Given the description of an element on the screen output the (x, y) to click on. 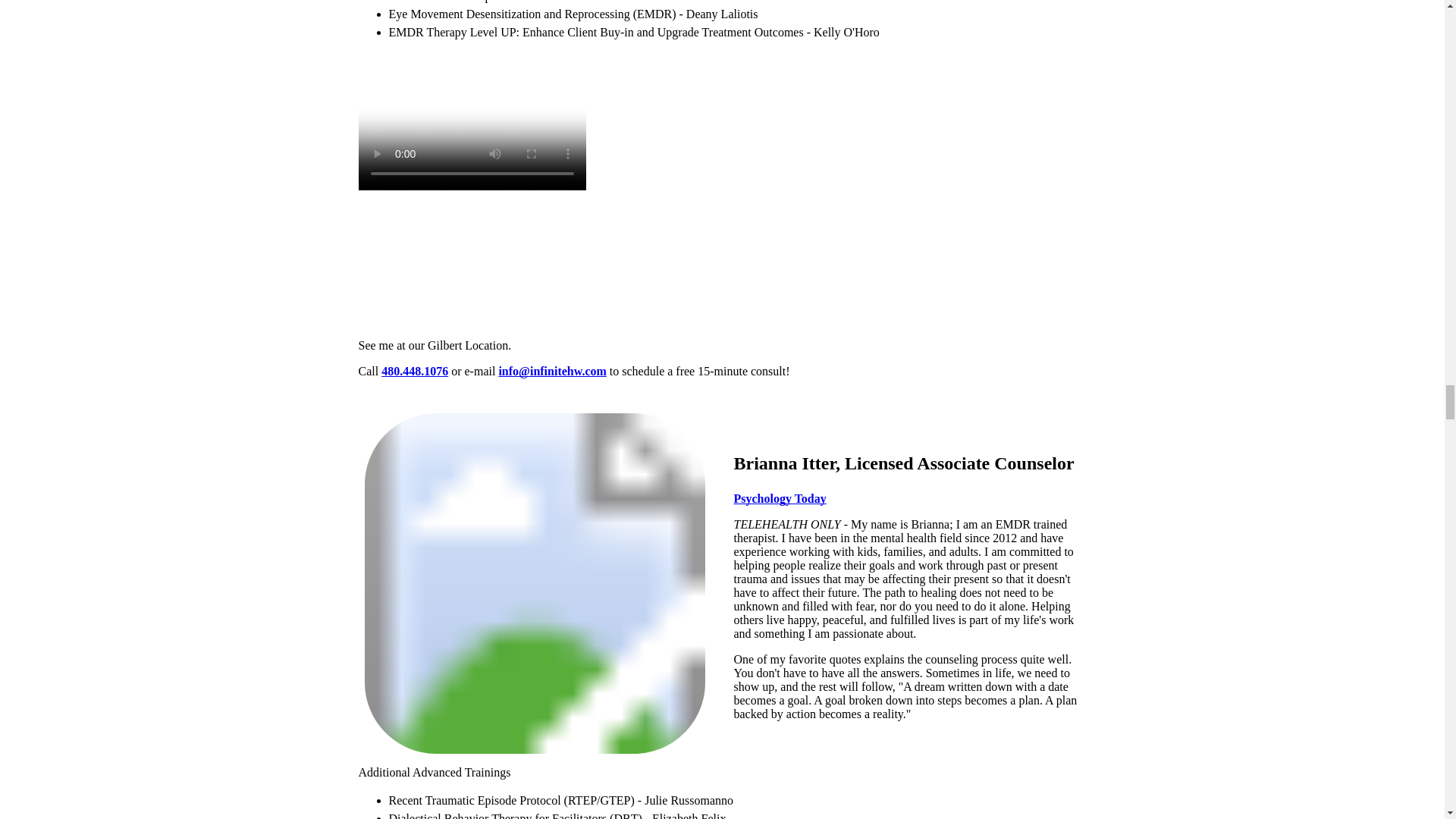
Brianna Itter - Phoenix, AZ - Infinite Healing and Wellness (534, 583)
